Given the description of an element on the screen output the (x, y) to click on. 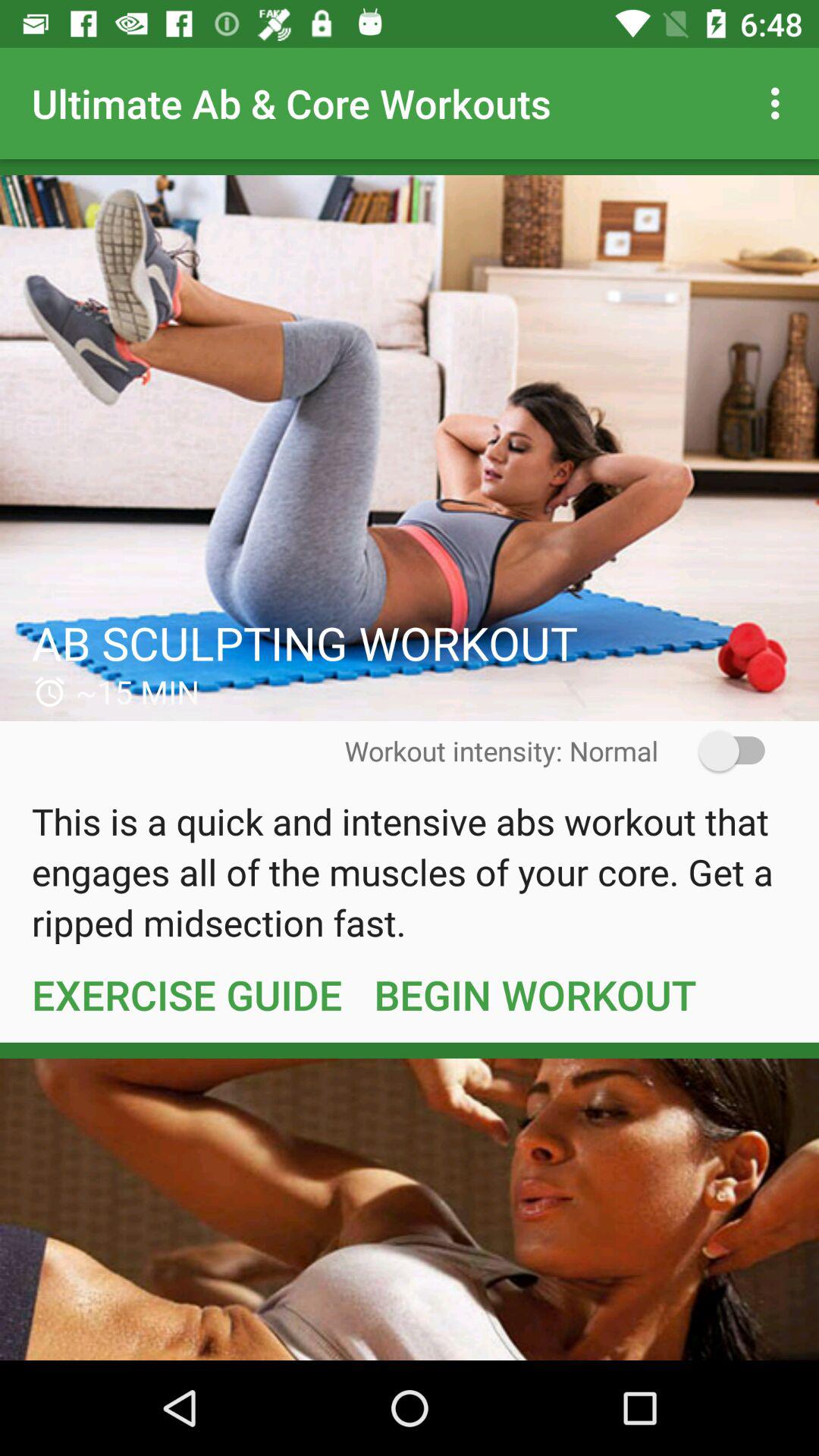
open the exercise guide item (186, 994)
